Given the description of an element on the screen output the (x, y) to click on. 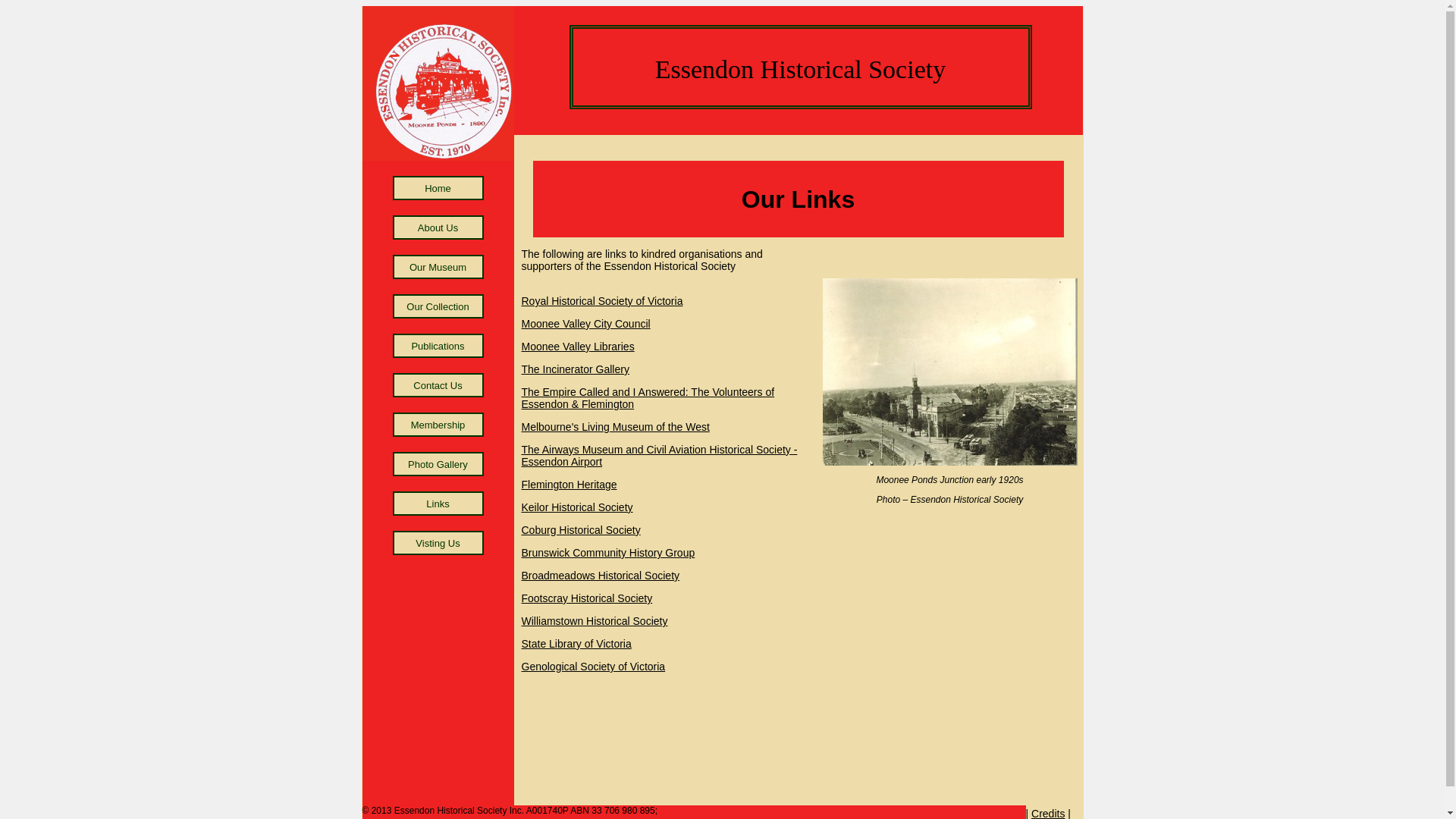
Our Museum Element type: text (437, 266)
Melbourne's Living Museum of the West Element type: text (615, 426)
Brunswick Community History Group Element type: text (608, 552)
Publications Element type: text (437, 345)
Home Element type: text (437, 187)
Coburg Historical Society Element type: text (580, 530)
Membership Element type: text (437, 424)
Flemington Heritage Element type: text (569, 484)
State Library of Victoria Element type: text (576, 643)
Broadmeadows Historical Society Element type: text (600, 575)
Moonee Ponds Junction c1920s Element type: hover (949, 371)
Our Collection Element type: text (437, 306)
Links Element type: text (437, 503)
Contact Us Element type: text (437, 385)
Visting Us Element type: text (437, 542)
Williamstown Historical Society Element type: text (594, 621)
About Us Element type: text (437, 227)
Moonee Valley City Council Element type: text (585, 323)
Keilor Historical Society Element type: text (577, 507)
Moonee Valley Libraries Element type: text (577, 346)
Photo Gallery Element type: text (437, 463)
The Incinerator Gallery Element type: text (575, 369)
Genological Society of Victoria Element type: text (593, 666)
Footscray Historical Society Element type: text (586, 598)
Royal Historical Society of Victoria Element type: text (602, 300)
